Given the description of an element on the screen output the (x, y) to click on. 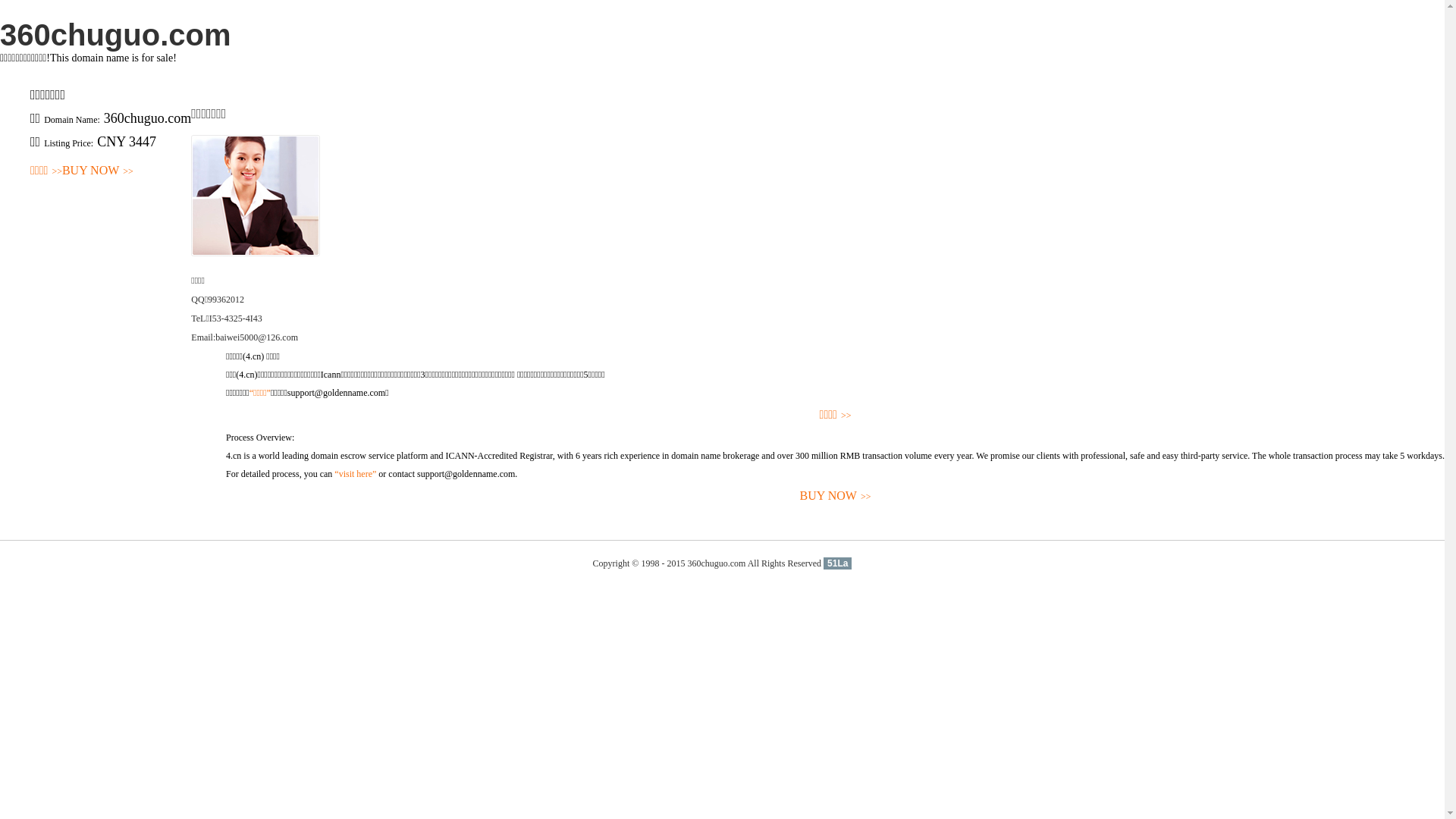
BUY NOW>> Element type: text (97, 170)
BUY NOW>> Element type: text (834, 496)
51La Element type: text (837, 563)
